Given the description of an element on the screen output the (x, y) to click on. 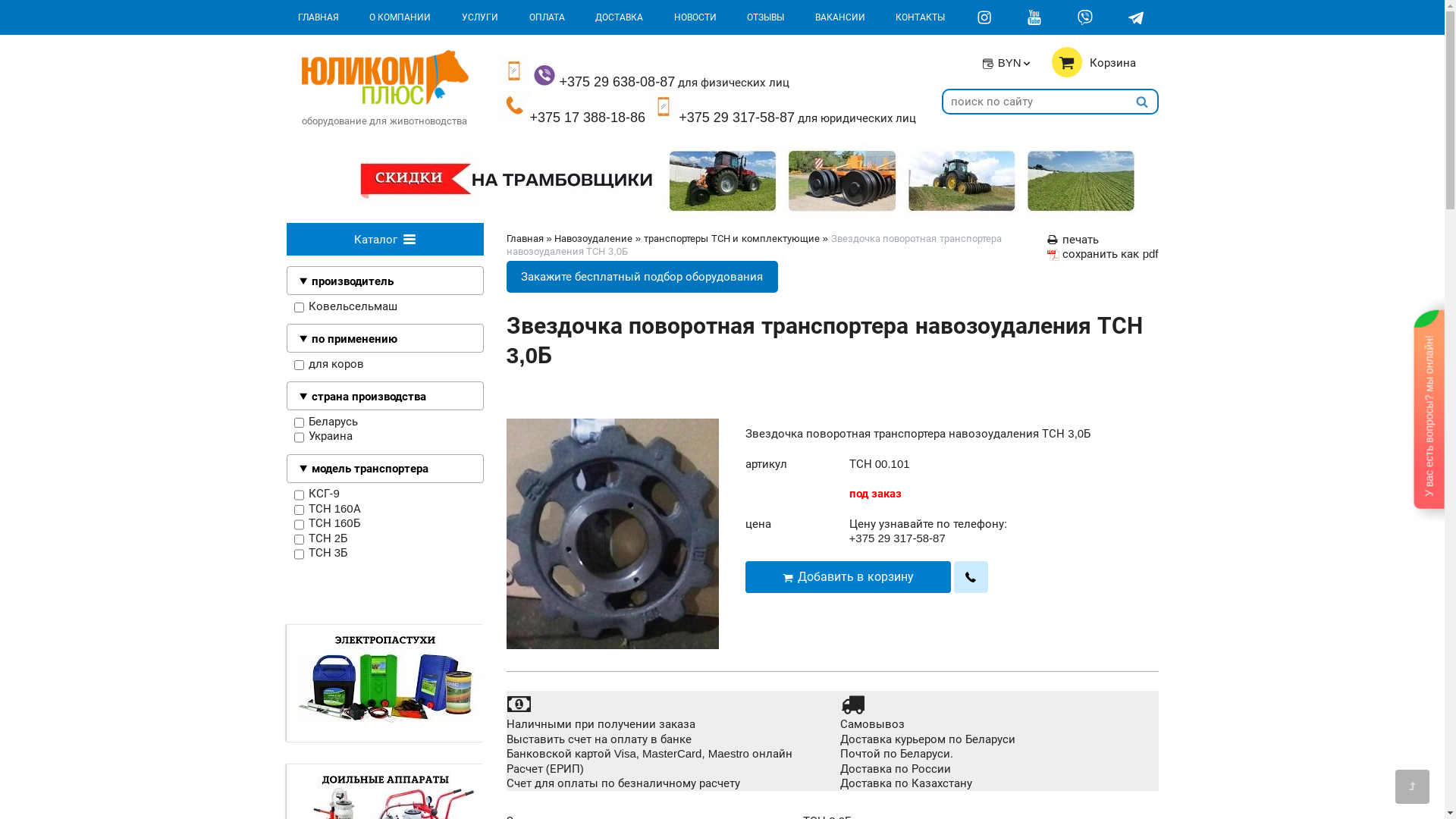
+375 17 388-18-86 Element type: text (572, 108)
+375 29 638-08-87 Element type: text (586, 73)
BYN Element type: text (1007, 62)
+375 29 317-58-87 Element type: text (897, 537)
+375 29 317-58-87 Element type: text (721, 108)
